Given the description of an element on the screen output the (x, y) to click on. 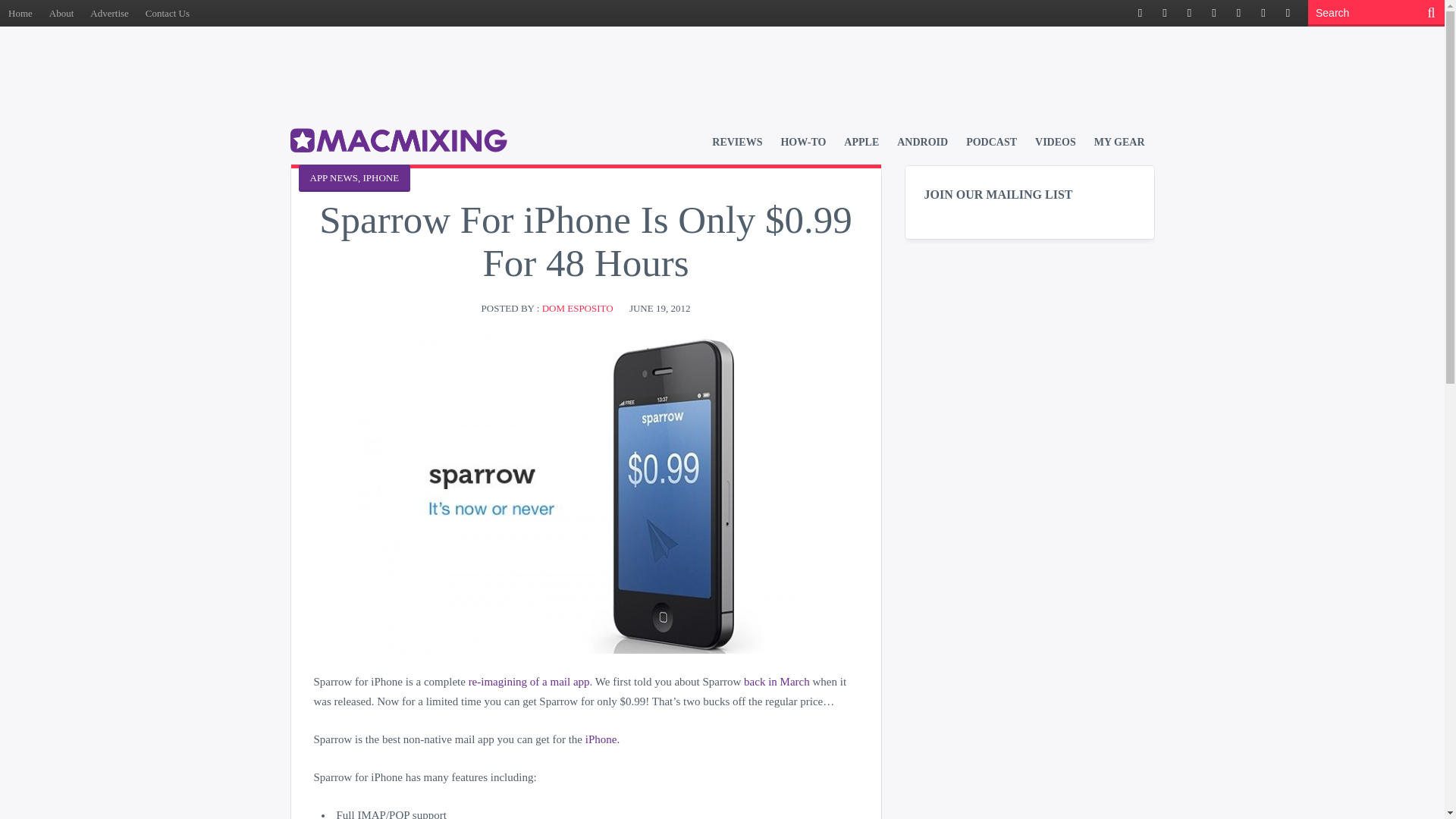
REVIEWS (736, 141)
About (61, 13)
Twitter (1165, 13)
Rss (1188, 13)
Contact Us (167, 13)
LinkedIn (1238, 13)
Posts by Dom Esposito (576, 307)
Youtube (1263, 13)
Advertise (108, 13)
Search (1364, 13)
